Given the description of an element on the screen output the (x, y) to click on. 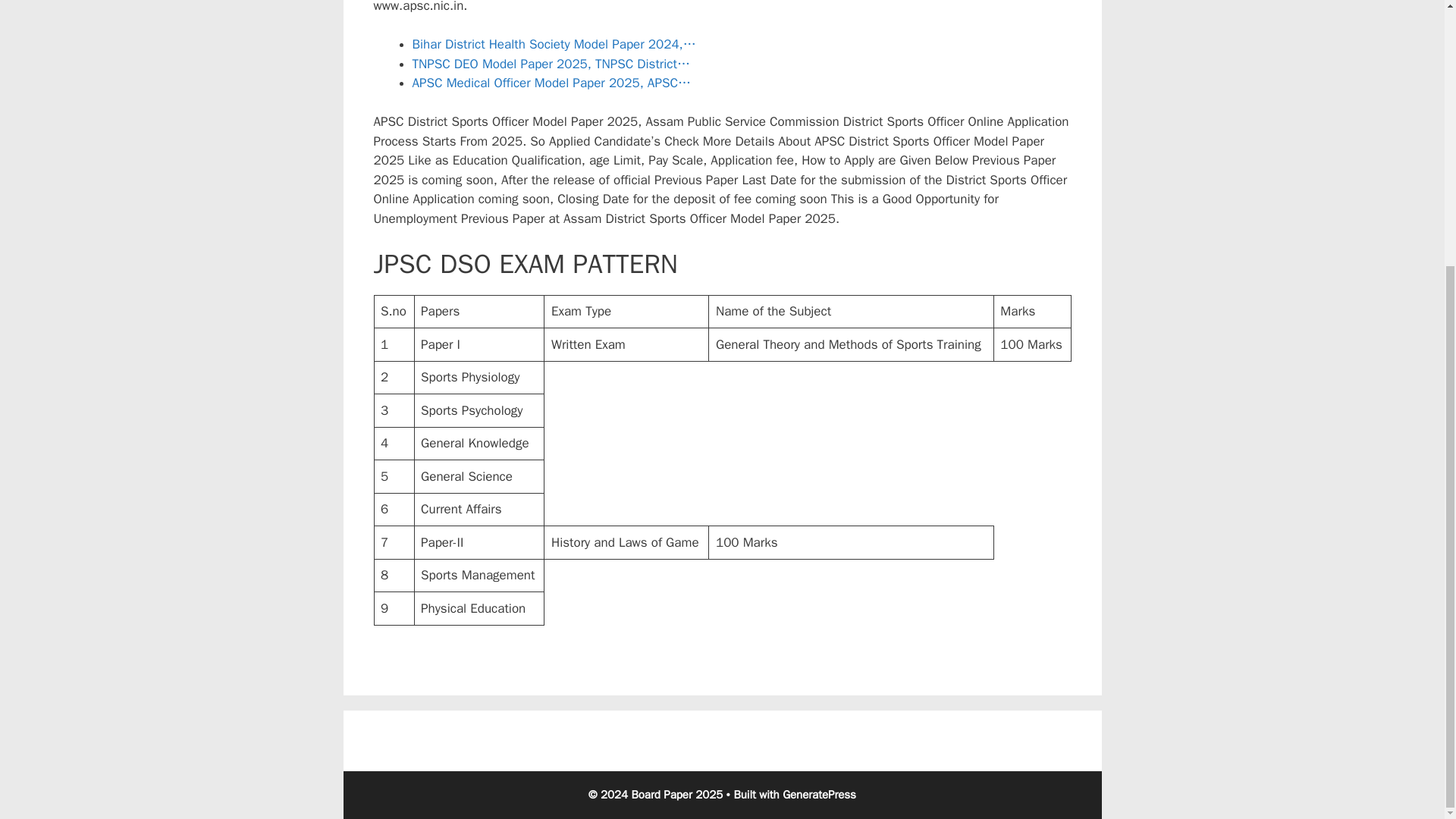
GeneratePress (819, 794)
